Given the description of an element on the screen output the (x, y) to click on. 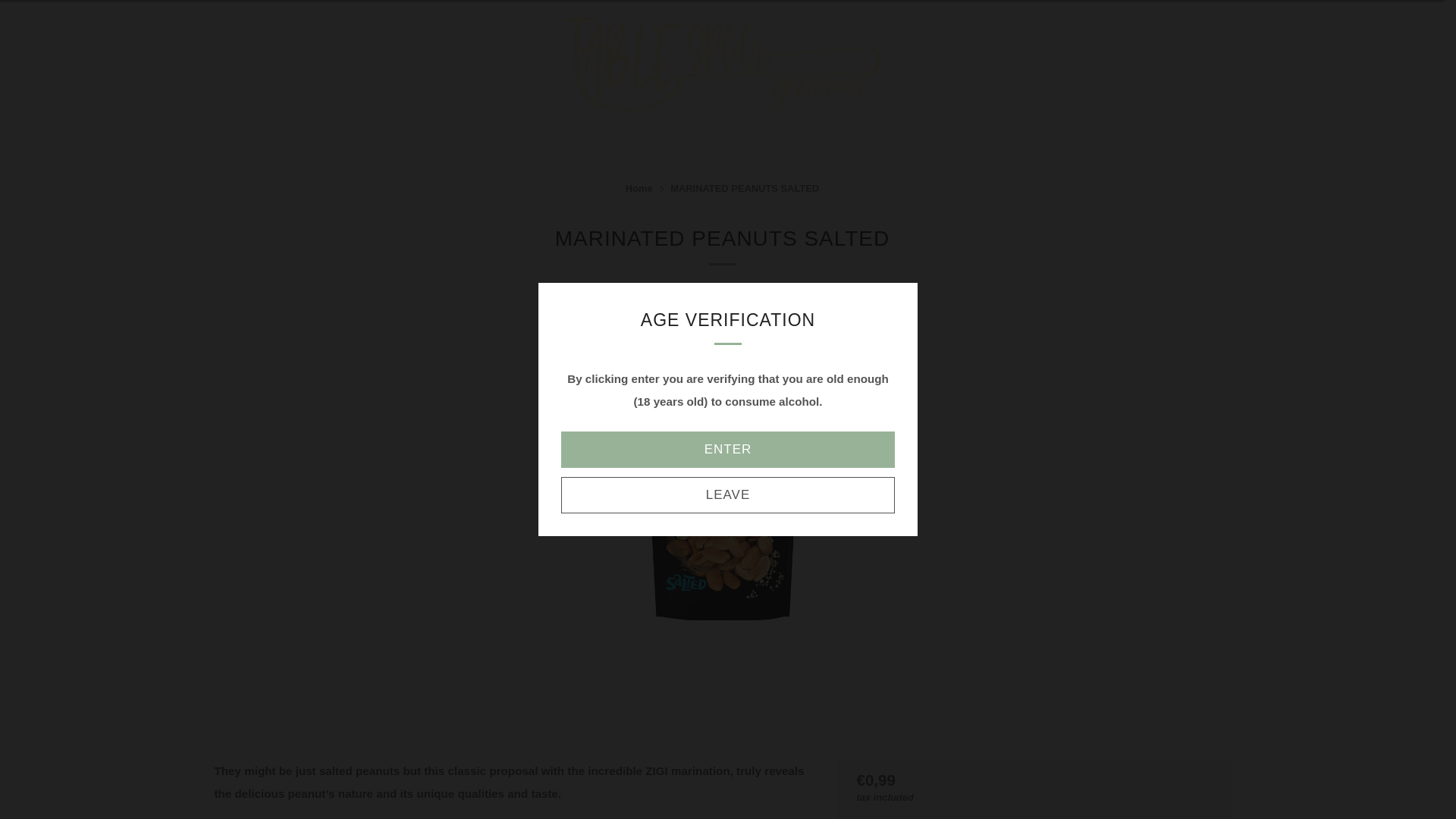
Page 4 (513, 789)
ENTER (727, 449)
Home (639, 188)
Zigi (721, 288)
LEAVE (727, 494)
